Given the description of an element on the screen output the (x, y) to click on. 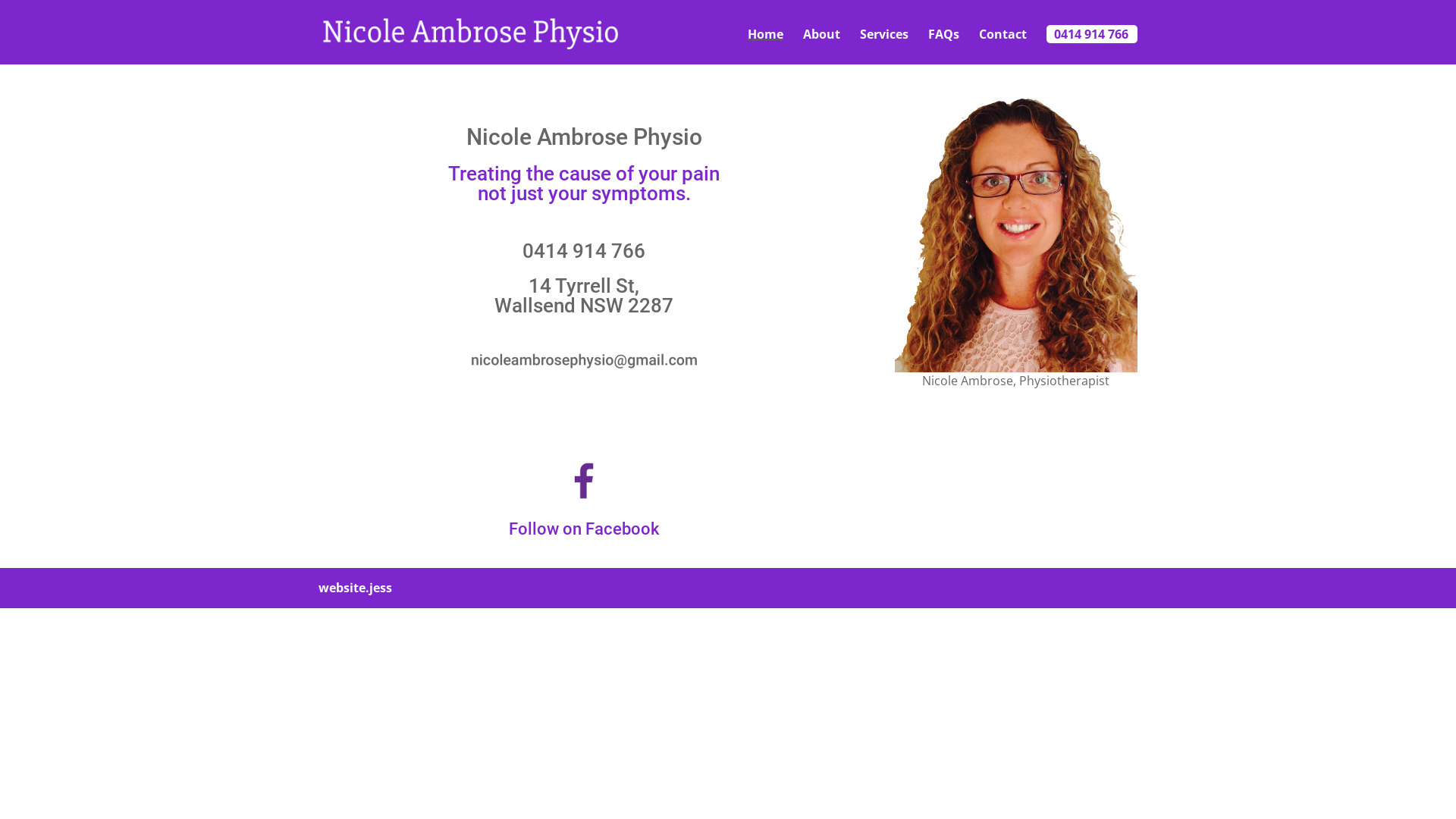
About Element type: text (821, 46)
Services Element type: text (883, 46)
Home Element type: text (765, 46)
0414 914 766 Element type: text (1095, 46)
website.jess Element type: text (355, 587)
Contact Element type: text (1002, 46)
Follow on Facebook Element type: text (583, 528)
FAQs Element type: text (943, 46)
